Given the description of an element on the screen output the (x, y) to click on. 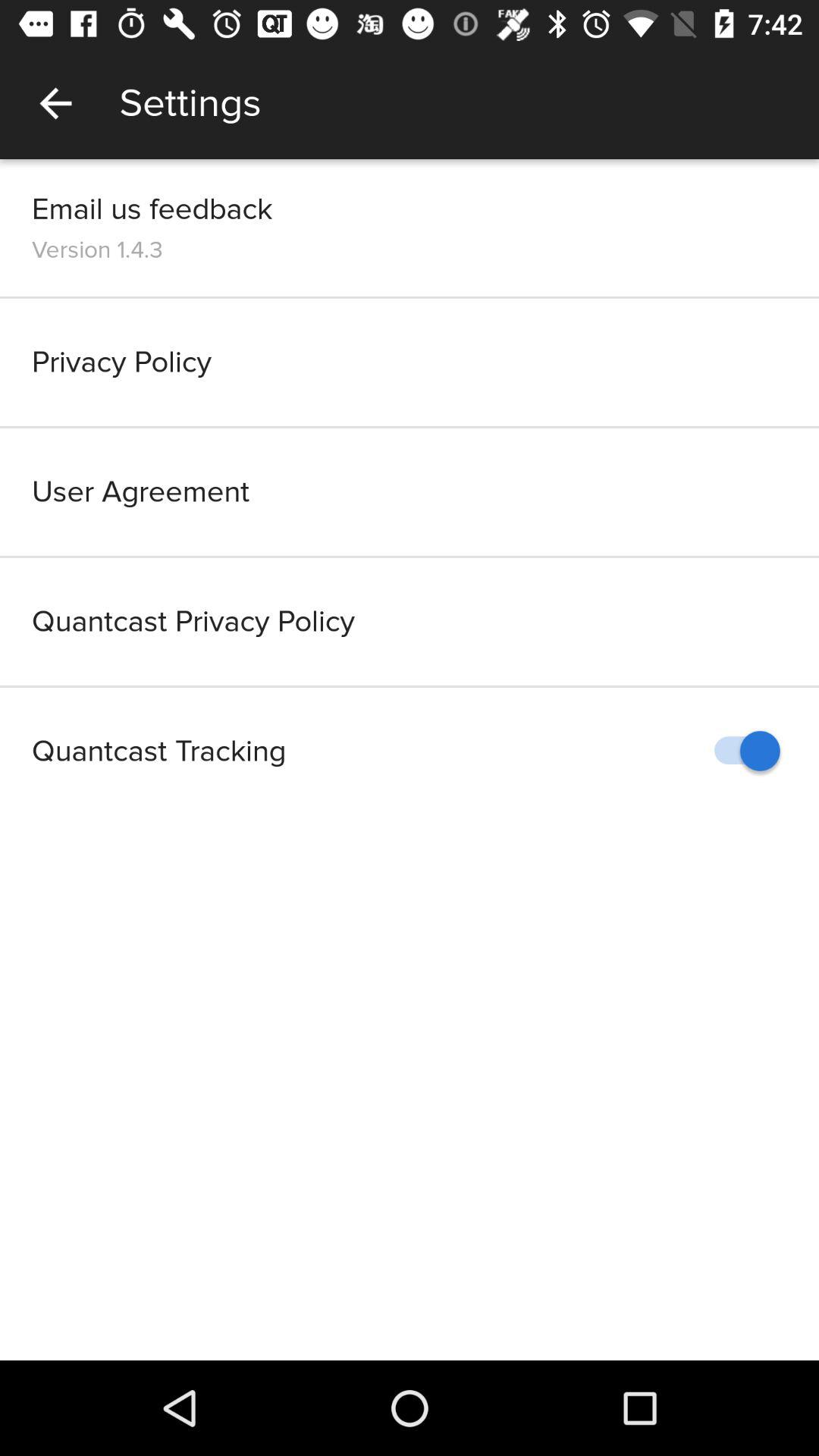
select the version 1 4 item (96, 249)
